Given the description of an element on the screen output the (x, y) to click on. 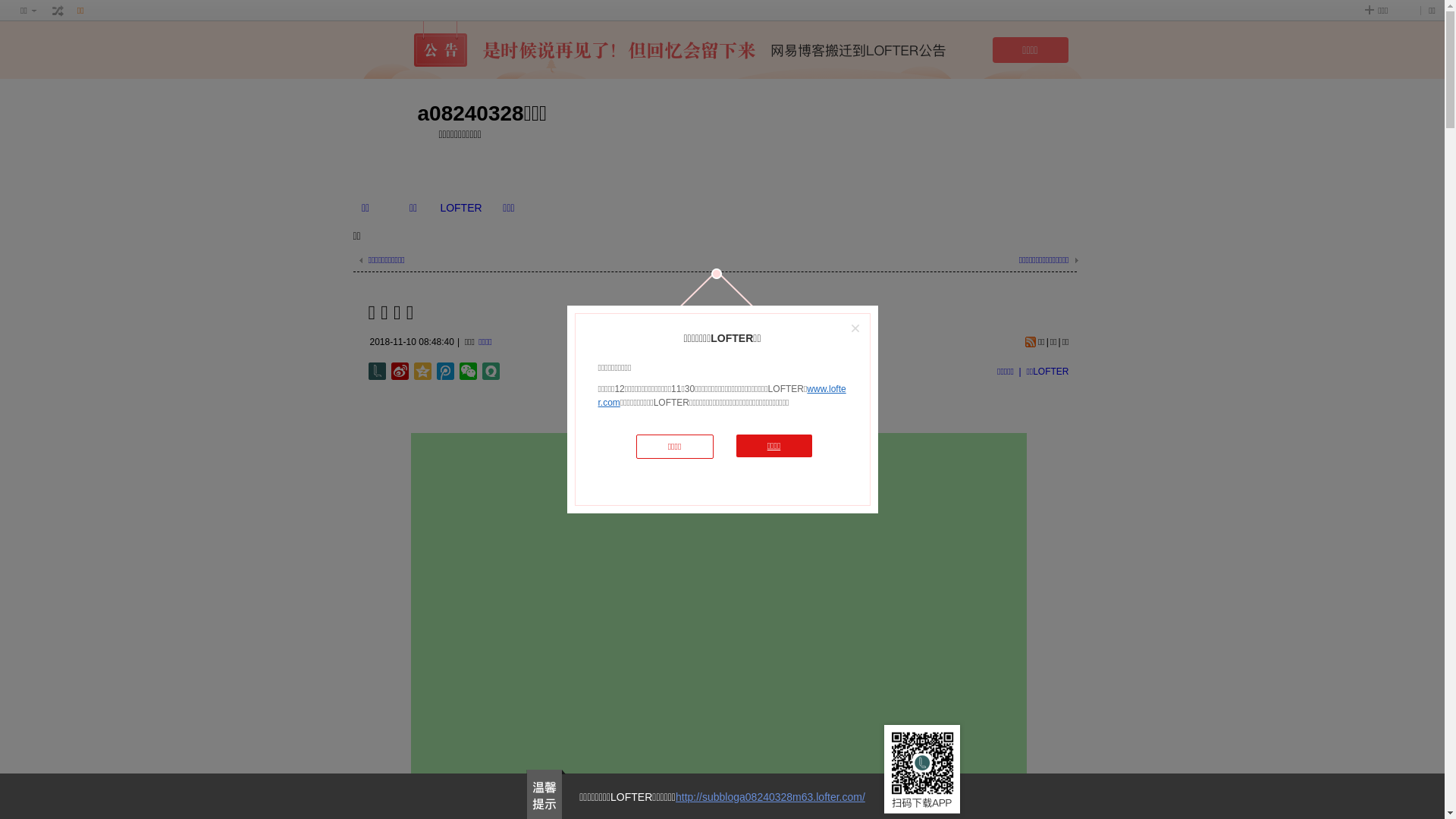
  Element type: text (58, 10)
www.lofter.com Element type: text (721, 395)
LOFTER Element type: text (460, 207)
http://subbloga08240328m63.lofter.com/ Element type: text (770, 796)
